Given the description of an element on the screen output the (x, y) to click on. 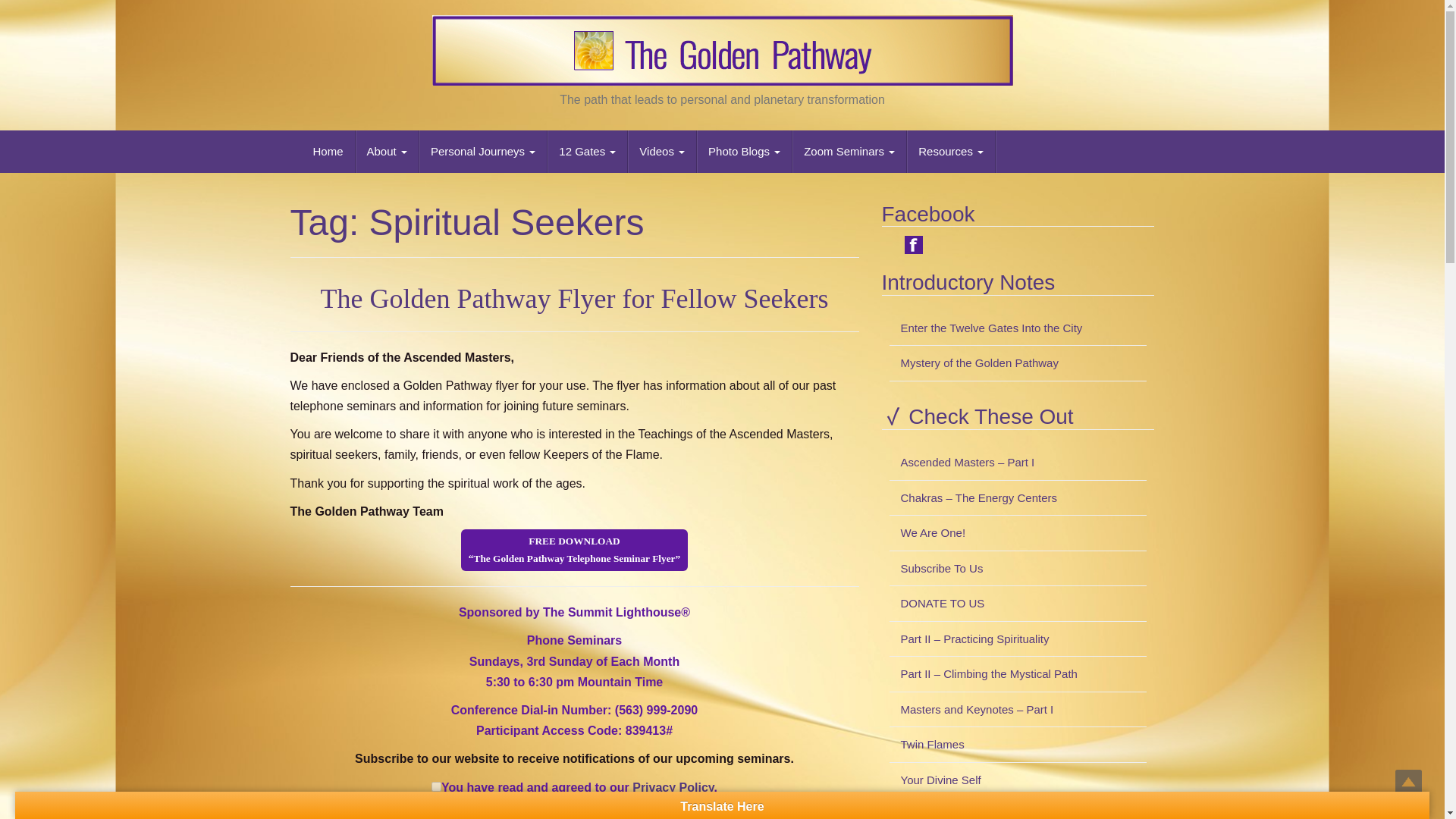
Personal Journeys (483, 151)
12 Gates (587, 151)
12 Gates (587, 151)
About (387, 151)
Personal Journeys (483, 151)
1 (435, 786)
Videos (662, 151)
Home (328, 151)
Home (328, 151)
About (387, 151)
